Given the description of an element on the screen output the (x, y) to click on. 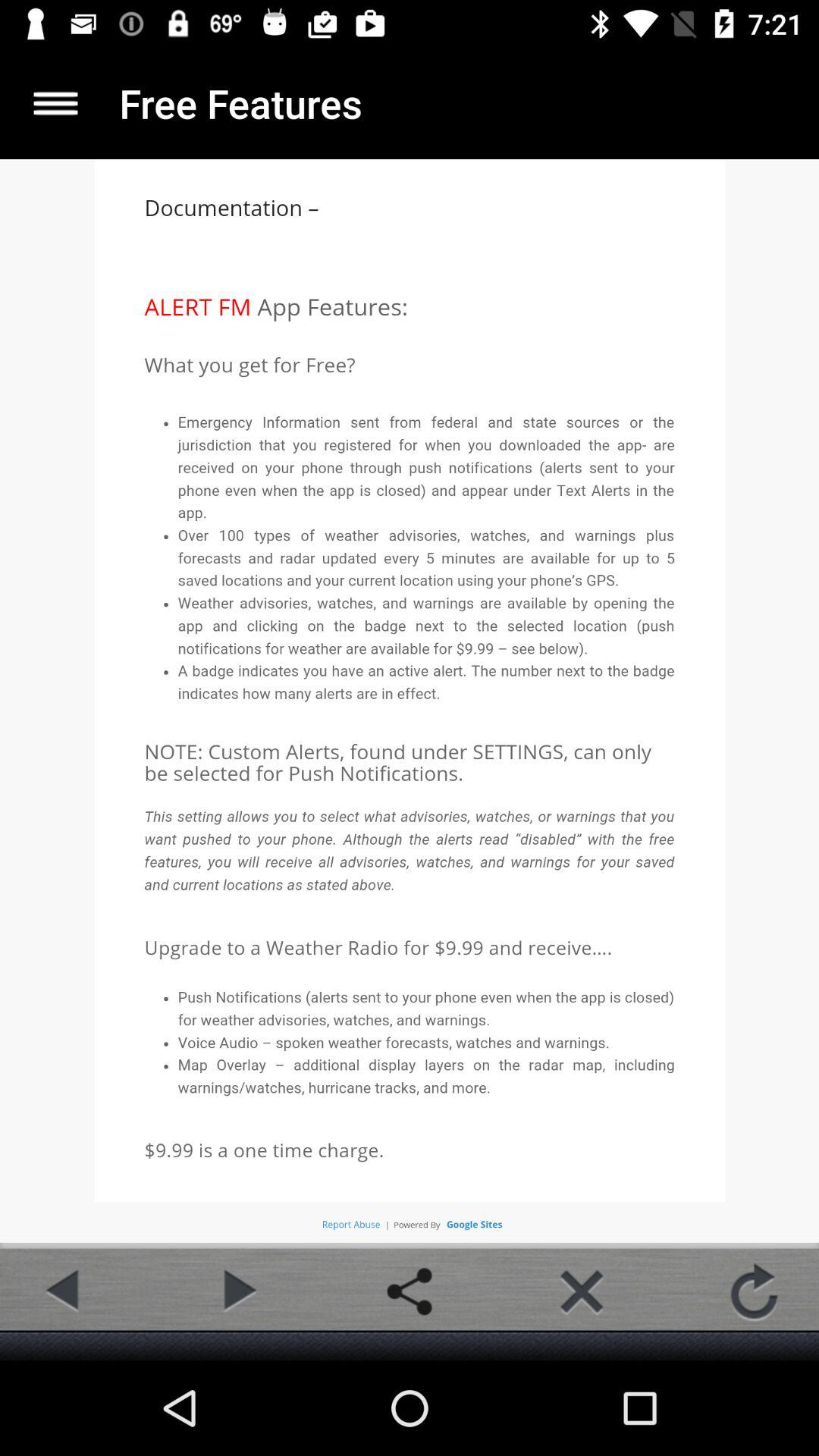
share button (409, 1291)
